Given the description of an element on the screen output the (x, y) to click on. 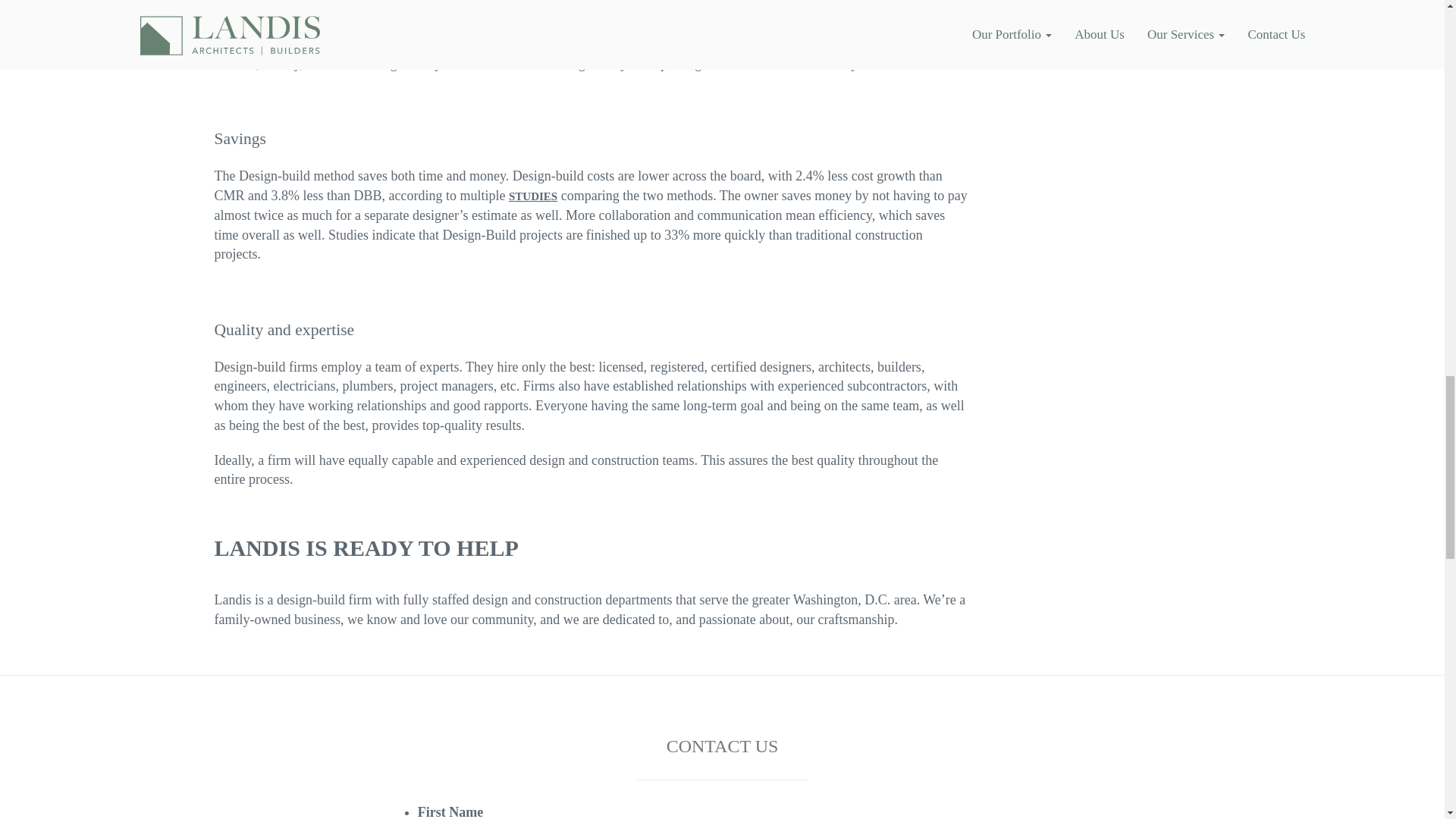
STUDIES (532, 196)
